Given the description of an element on the screen output the (x, y) to click on. 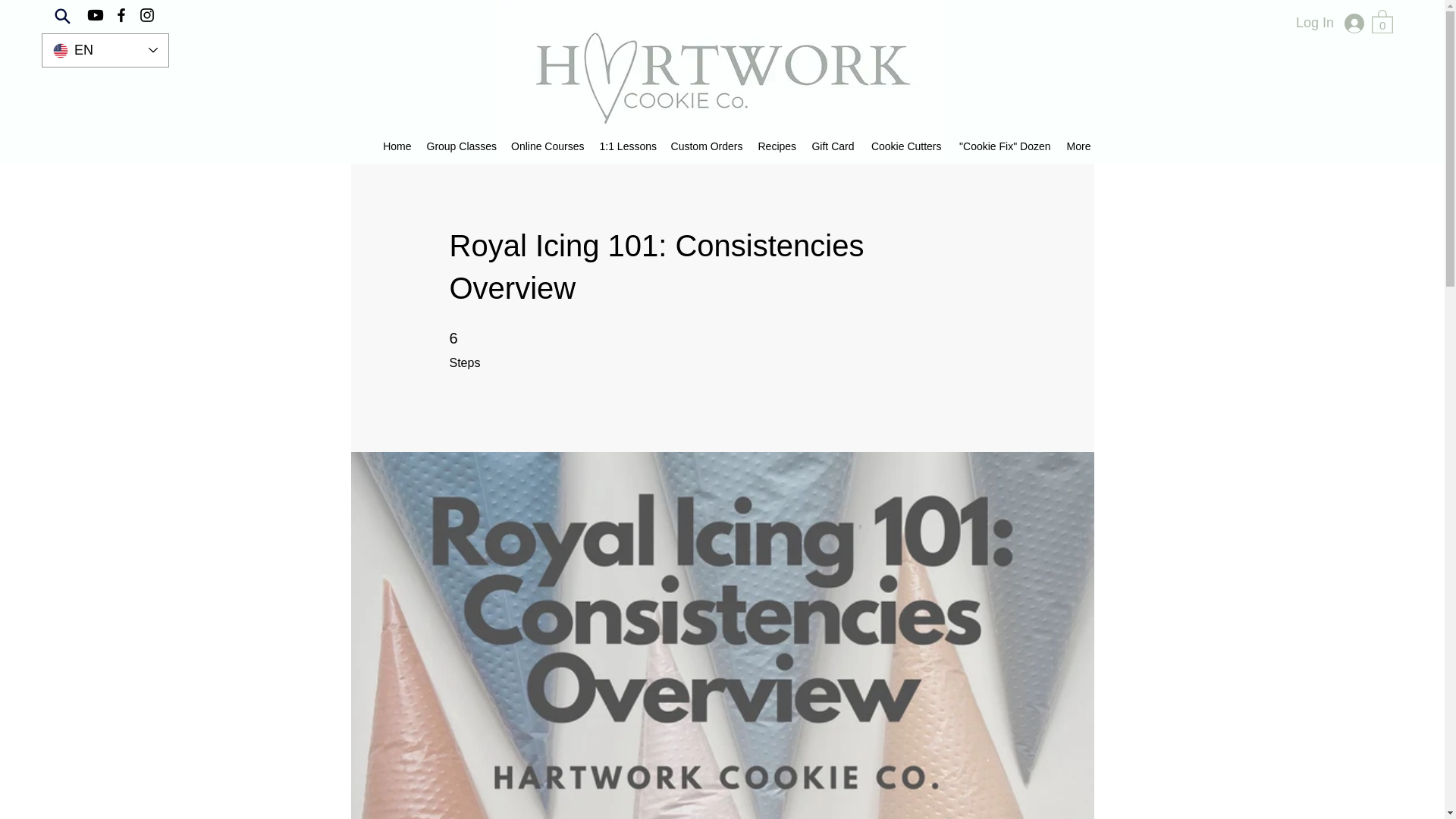
Recipes (777, 146)
"Cookie Fix" Dozen (1003, 146)
Group Classes (460, 146)
1:1 Lessons (626, 146)
Cookie Cutters (905, 146)
Home (396, 146)
Custom Orders (706, 146)
Log In (1343, 23)
Online Courses (547, 146)
Gift Card (831, 146)
